Given the description of an element on the screen output the (x, y) to click on. 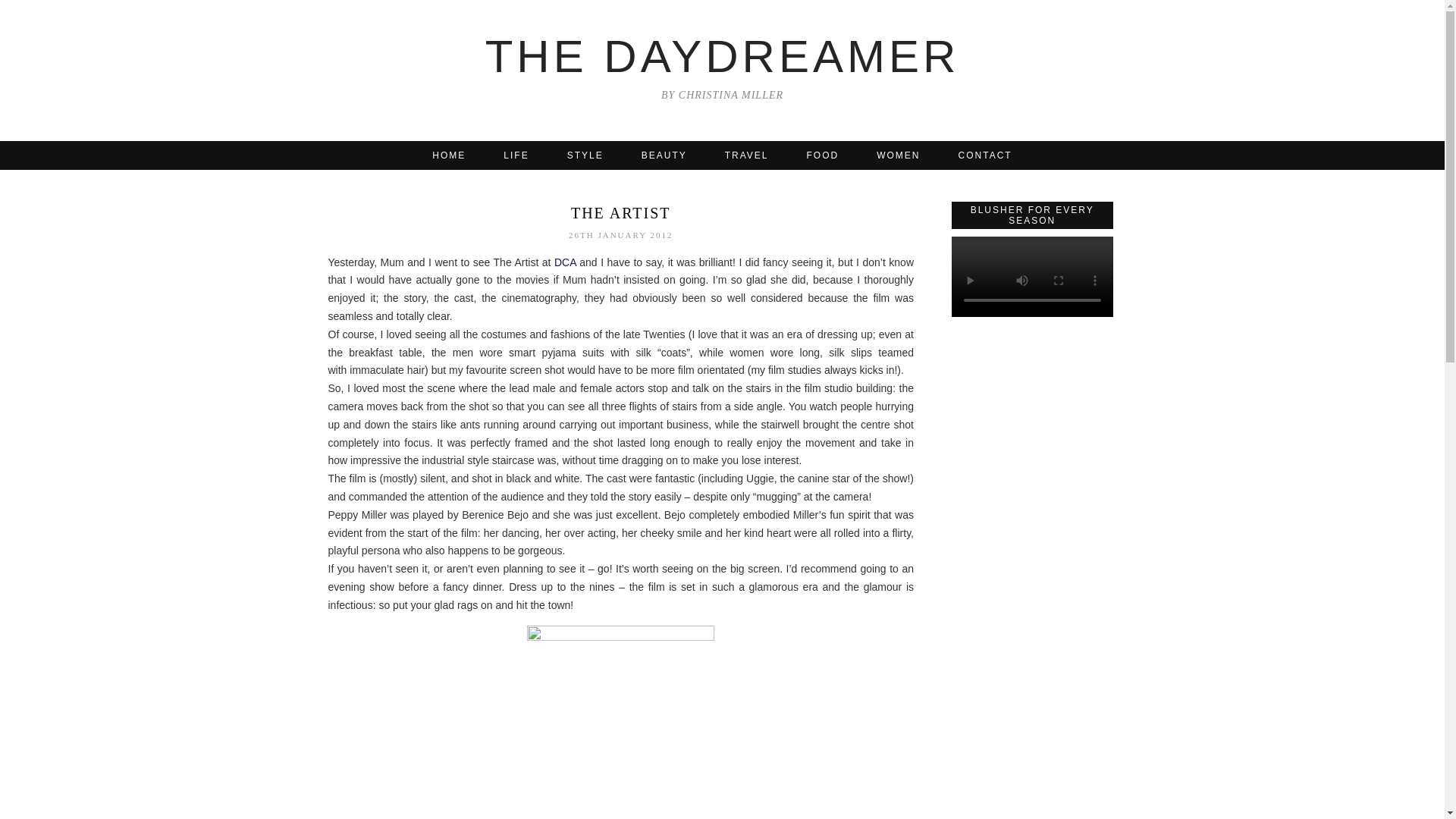
LIFE (515, 154)
STYLE (585, 154)
CONTACT (984, 154)
BEAUTY (664, 154)
WOMEN (898, 154)
DCA (565, 262)
HOME (448, 154)
TRAVEL (746, 154)
FOOD (823, 154)
THE DAYDREAMER (721, 56)
